Given the description of an element on the screen output the (x, y) to click on. 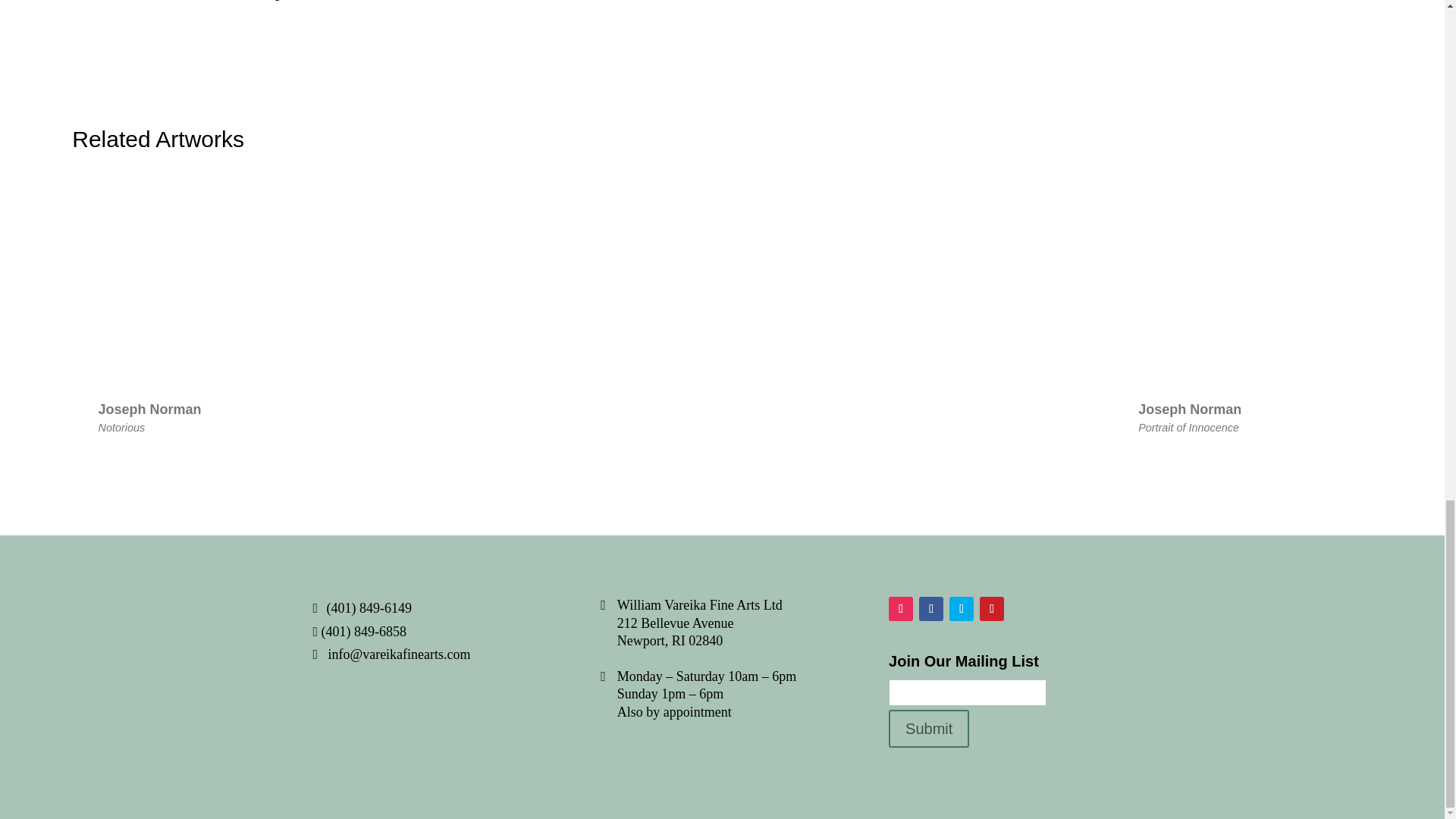
Follow on Facebook (930, 608)
Follow on Twitter (961, 608)
Follow on Instagram (900, 608)
Submit (928, 728)
Follow on Pinterest (991, 608)
